Given the description of an element on the screen output the (x, y) to click on. 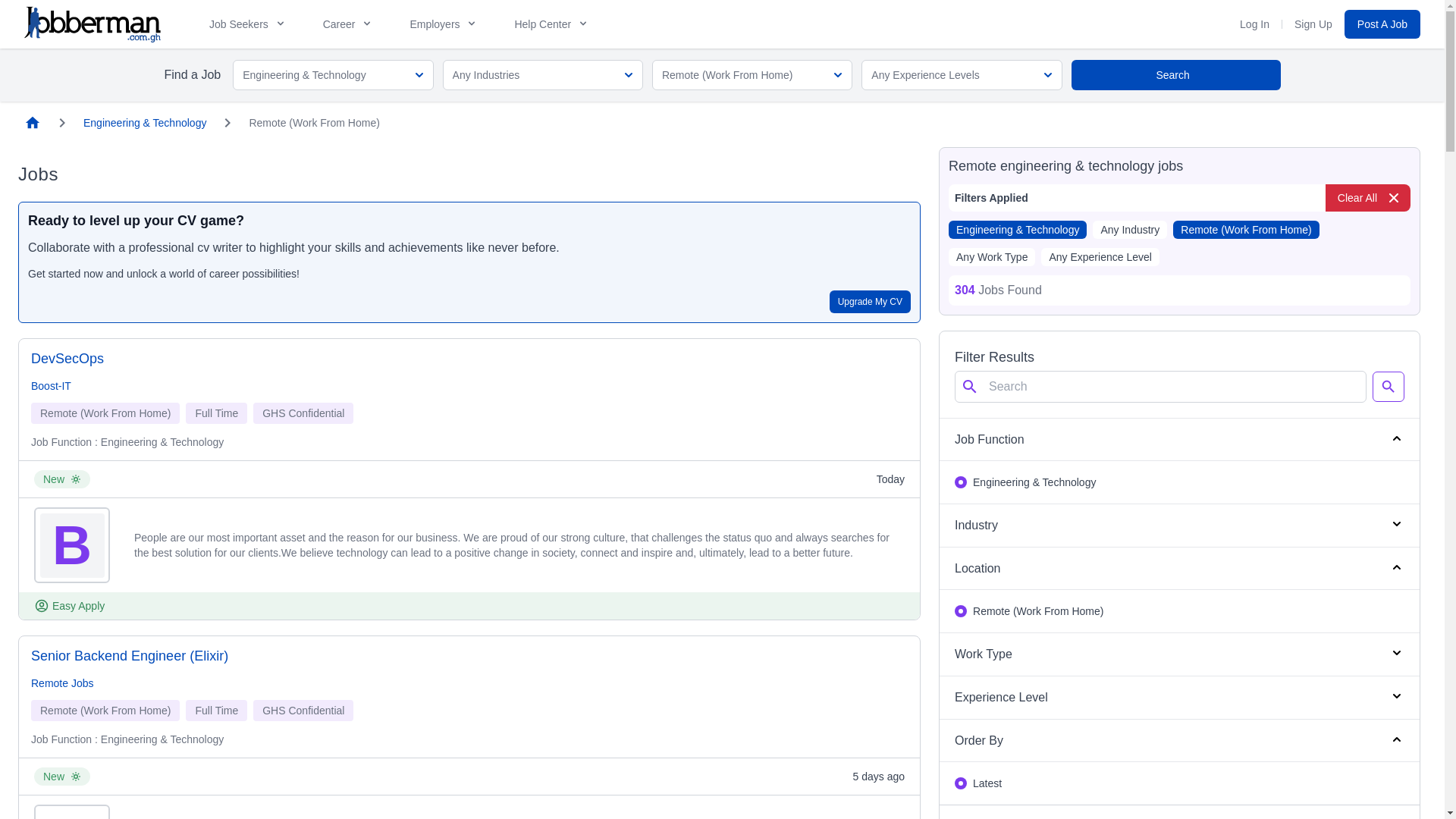
Post A Job (1382, 23)
remote (960, 611)
Help Center (551, 23)
DevSecOps (66, 358)
engineering-technology (960, 481)
Job Seekers (247, 23)
Sign Up (1313, 23)
Career (348, 23)
Job Seekers (239, 24)
latest (960, 783)
